Given the description of an element on the screen output the (x, y) to click on. 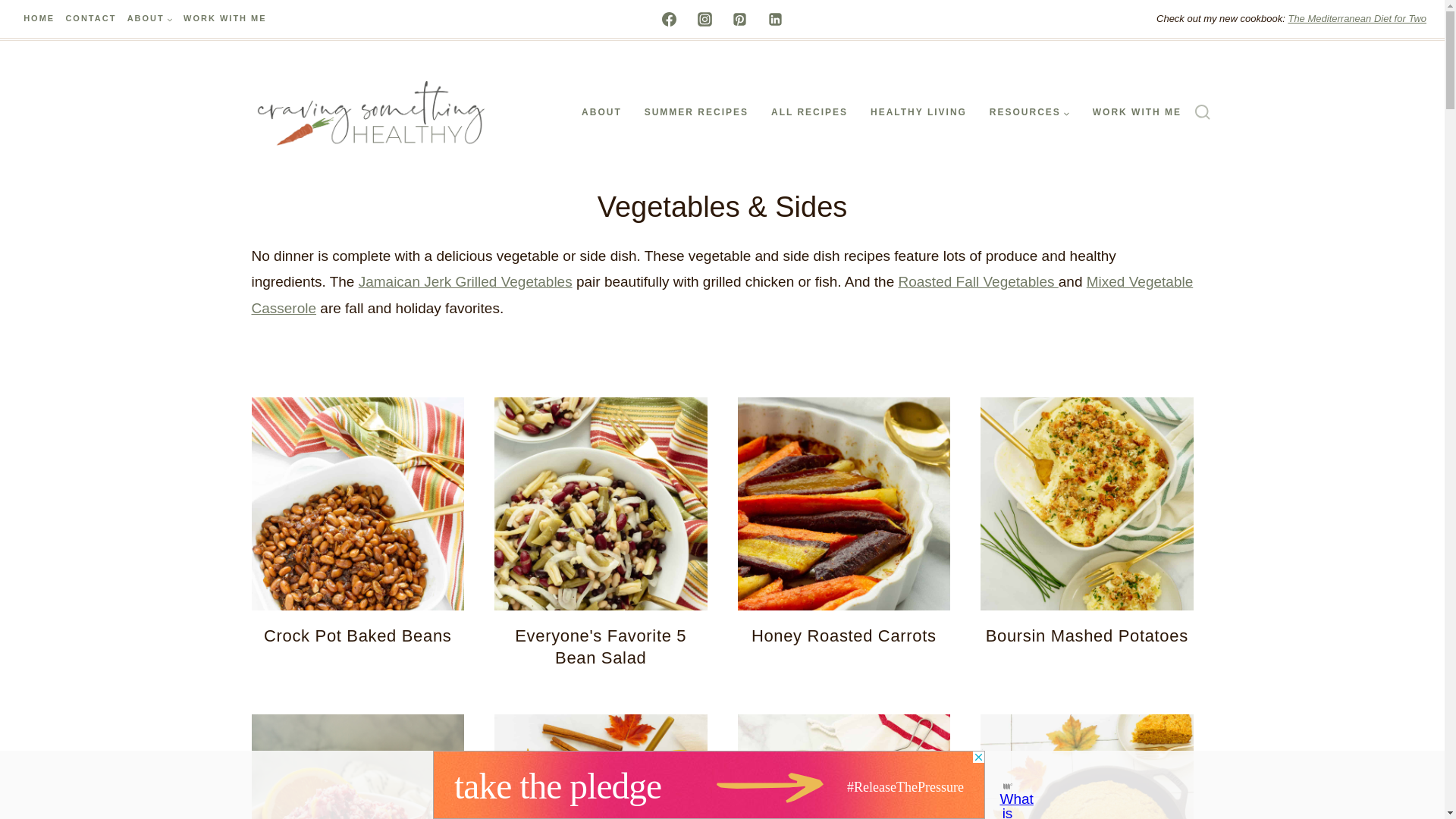
HOME (38, 19)
Mixed Vegetable Casserole (722, 294)
ABOUT (149, 19)
Jamaican Jerk Grilled Vegetables (465, 281)
Boursin Mashed Potatoes (1086, 635)
CONTACT (89, 19)
Honey Roasted Carrots (843, 635)
RESOURCES (1029, 112)
3rd party ad content (708, 785)
WORK WITH ME (224, 19)
Crock Pot Baked Beans (357, 635)
HEALTHY LIVING (918, 112)
Roasted Fall Vegetables (978, 281)
ABOUT (601, 112)
Everyone's Favorite 5 Bean Salad (600, 647)
